Given the description of an element on the screen output the (x, y) to click on. 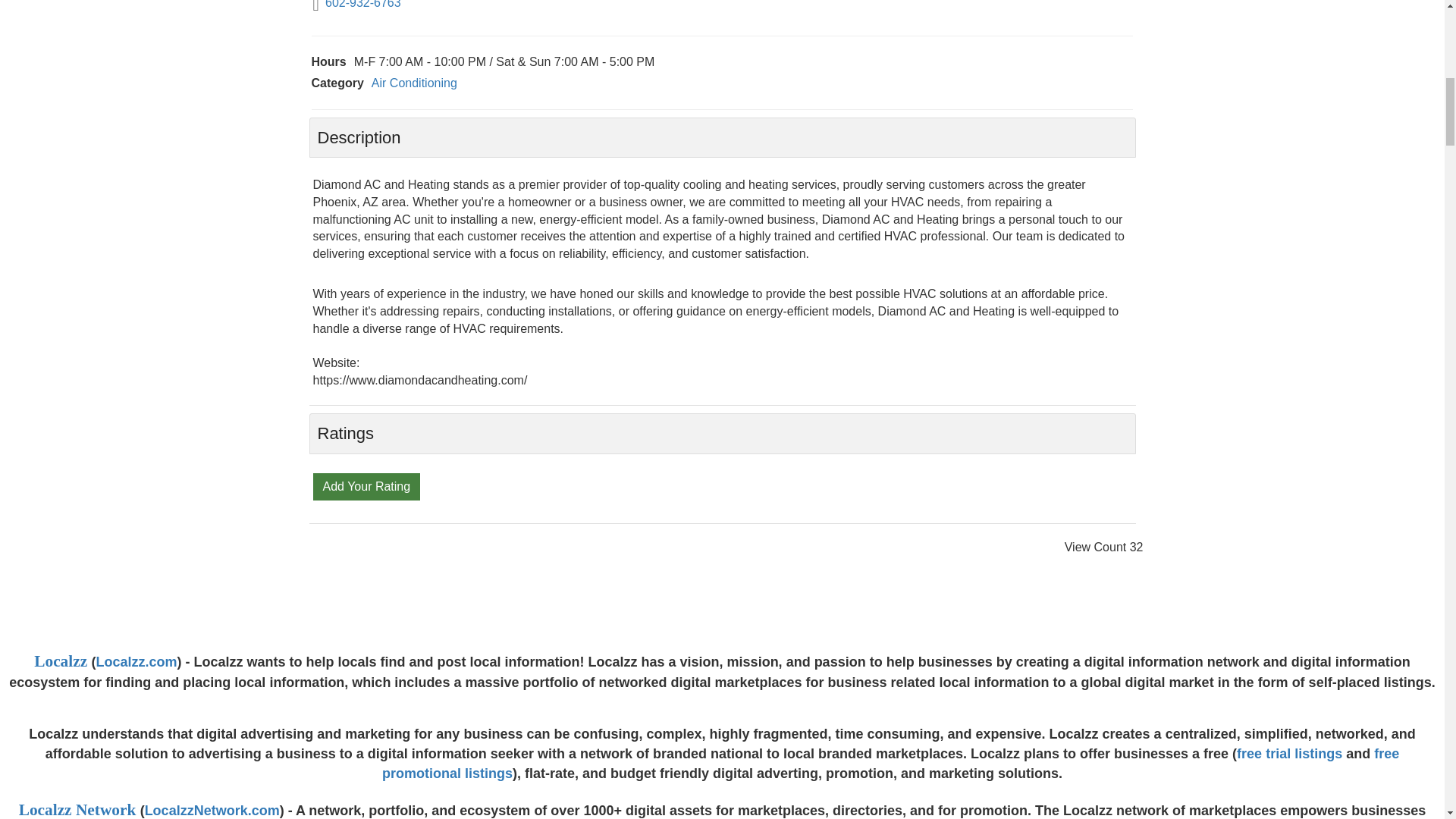
Click to Rate (366, 485)
